Given the description of an element on the screen output the (x, y) to click on. 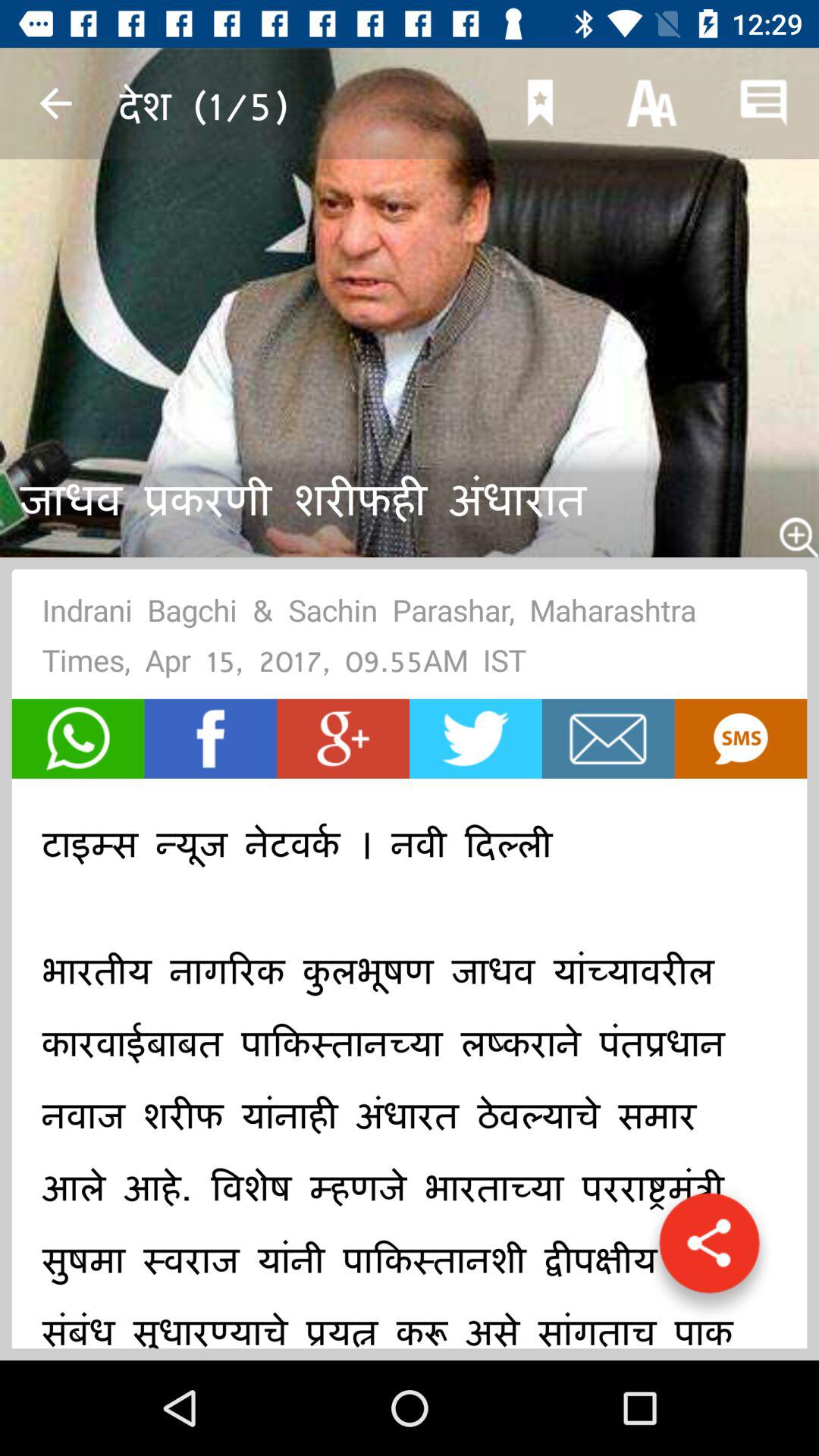
swipe to the indrani bagchi sachin icon (409, 639)
